Given the description of an element on the screen output the (x, y) to click on. 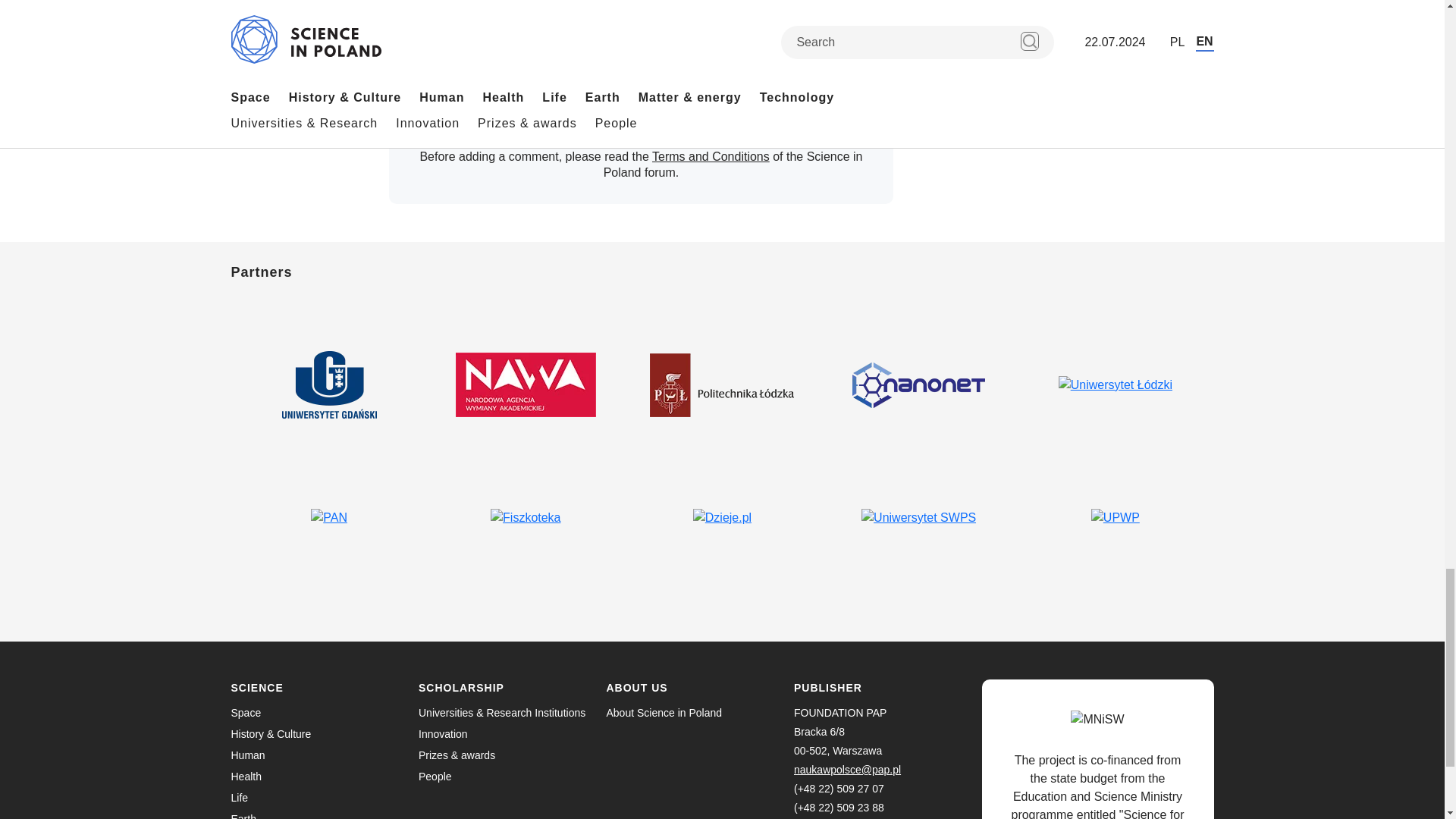
HUMAN (411, 16)
Terms and Conditions (711, 155)
HUMAN (672, 16)
